Given the description of an element on the screen output the (x, y) to click on. 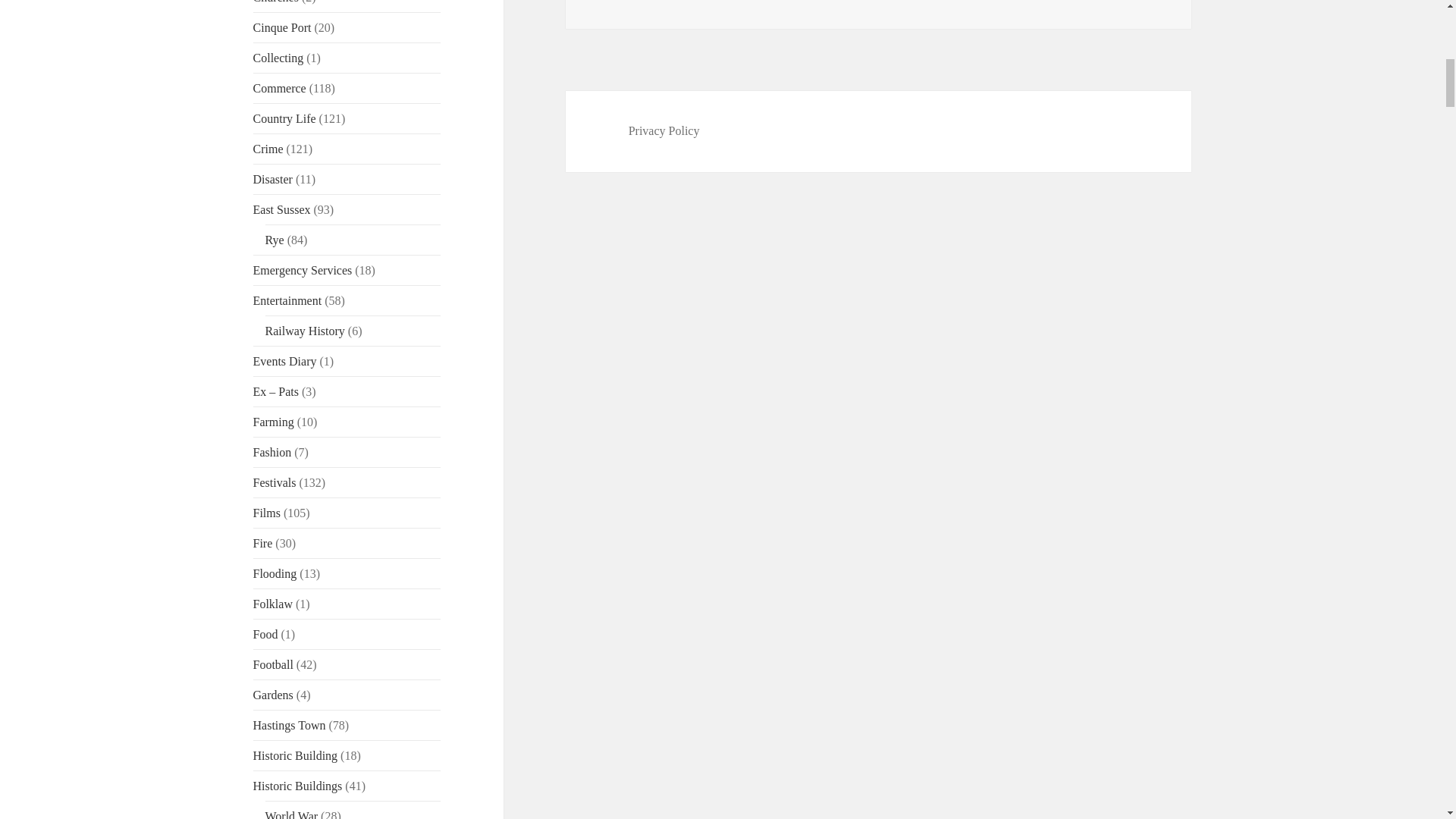
Rye (273, 239)
Fire (263, 543)
Emergency Services (302, 269)
Folklaw (272, 603)
Commerce (279, 88)
Football (273, 664)
Films (267, 512)
Entertainment (287, 300)
Collecting (278, 57)
Farming (273, 421)
